Given the description of an element on the screen output the (x, y) to click on. 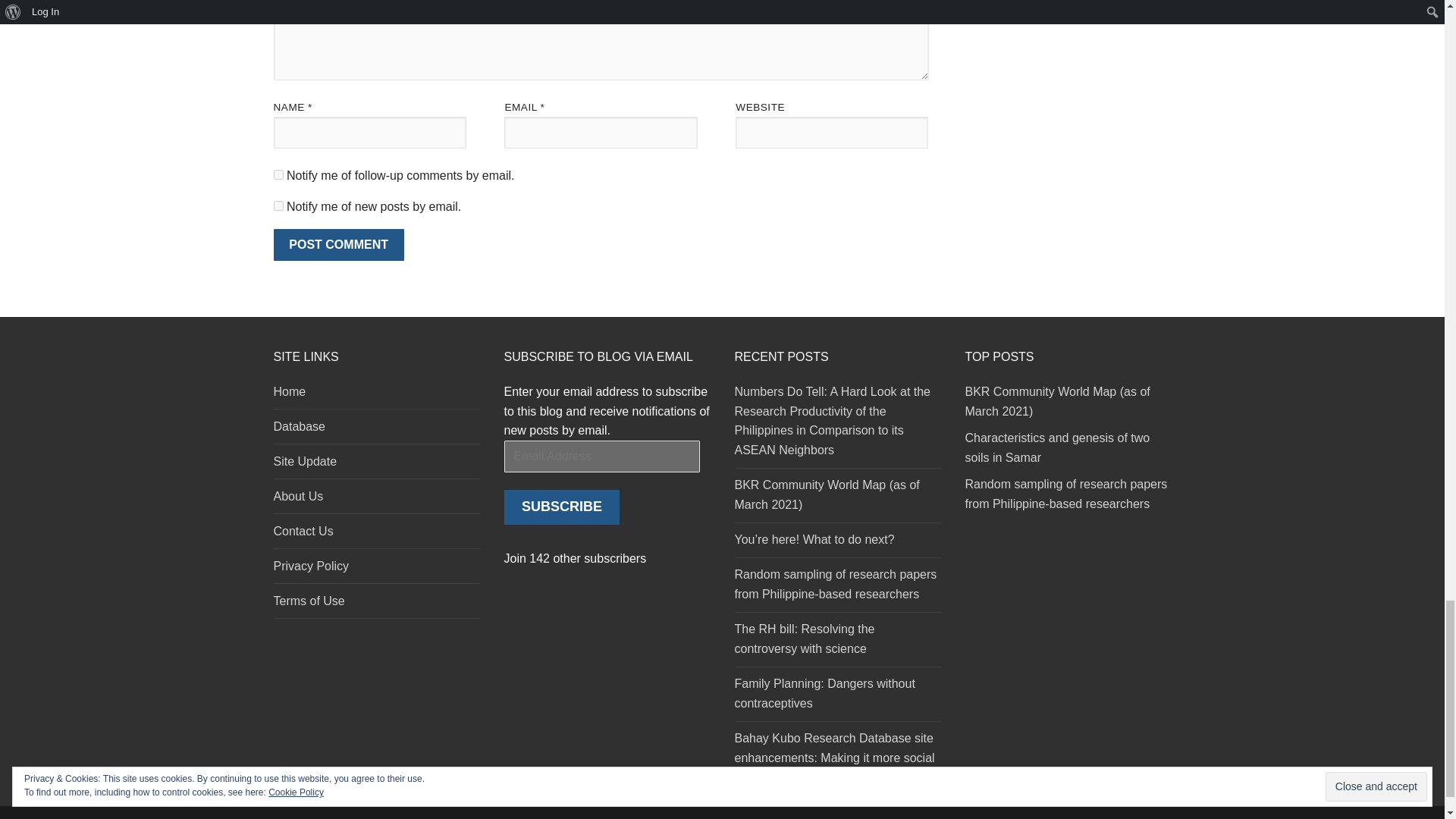
Post Comment (338, 245)
subscribe (277, 174)
subscribe (277, 205)
